Given the description of an element on the screen output the (x, y) to click on. 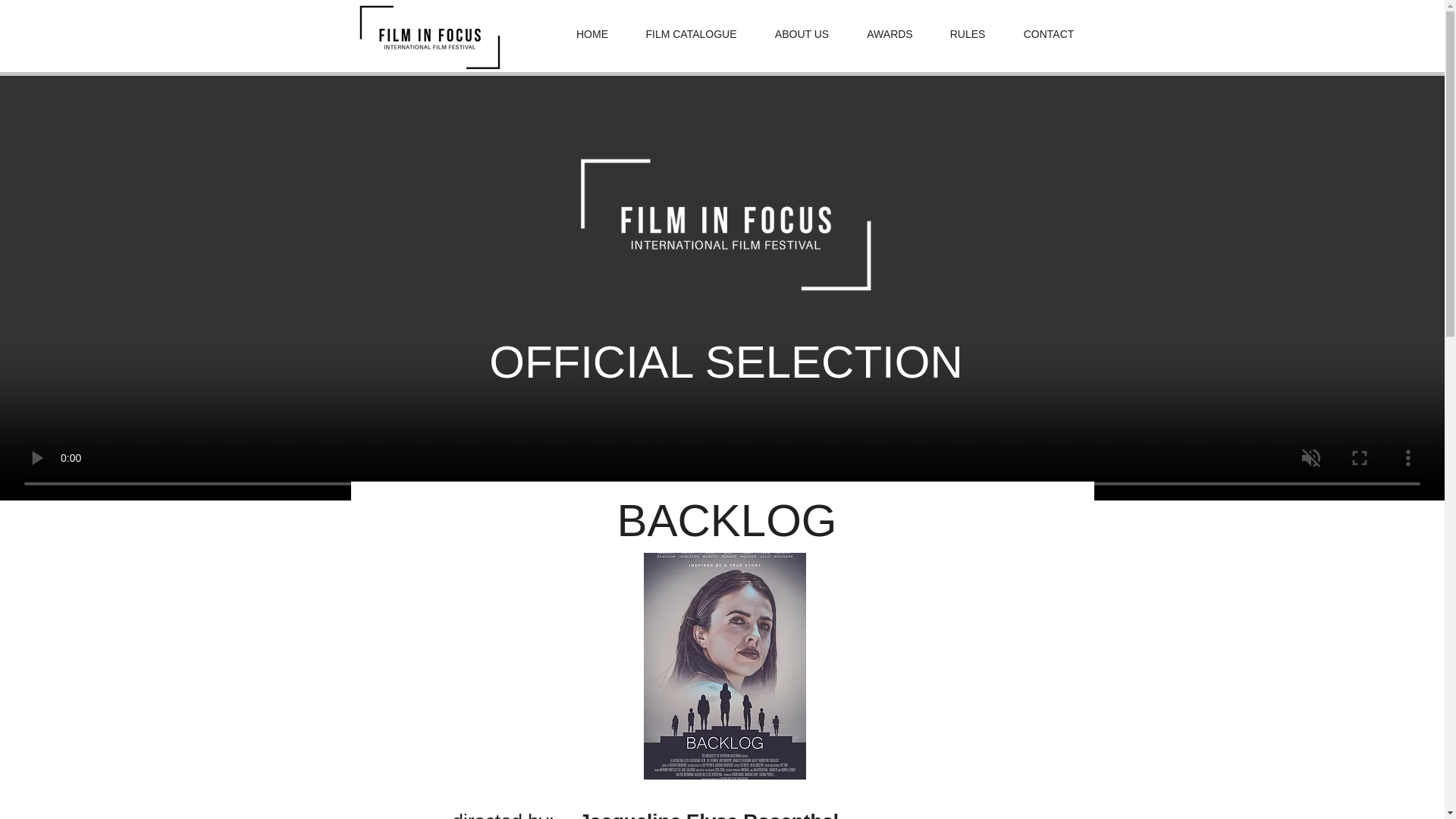
CONTACT (1048, 34)
HOME (592, 34)
RULES (967, 34)
ABOUT US (801, 34)
AWARDS (889, 34)
FILM CATALOGUE (691, 34)
